Given the description of an element on the screen output the (x, y) to click on. 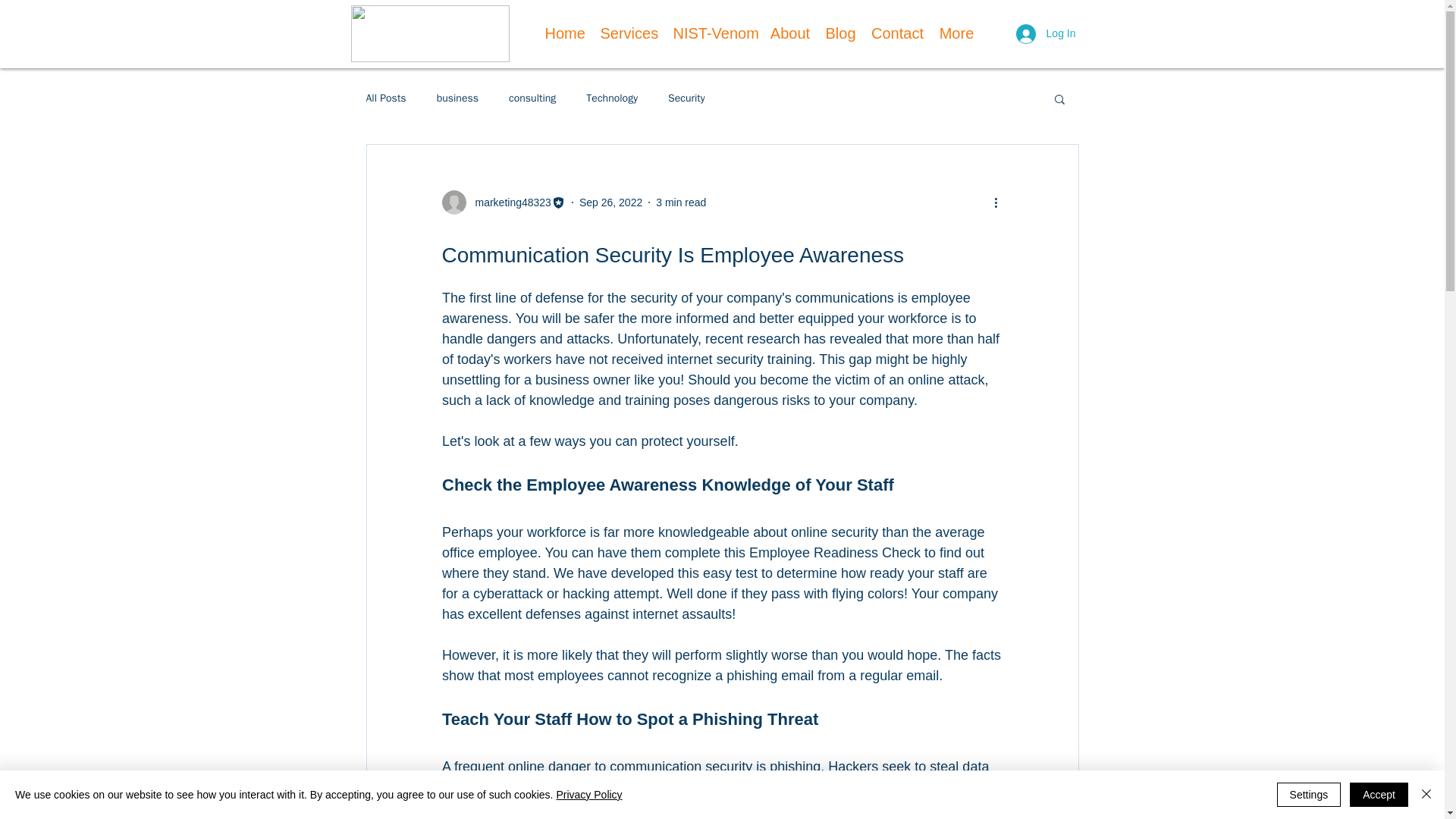
consulting (532, 98)
Home (564, 33)
Privacy Policy (588, 794)
Security (686, 98)
Settings (1308, 794)
Services (628, 33)
All Posts (385, 98)
Technology (611, 98)
marketing48323 (502, 202)
business (457, 98)
